Given the description of an element on the screen output the (x, y) to click on. 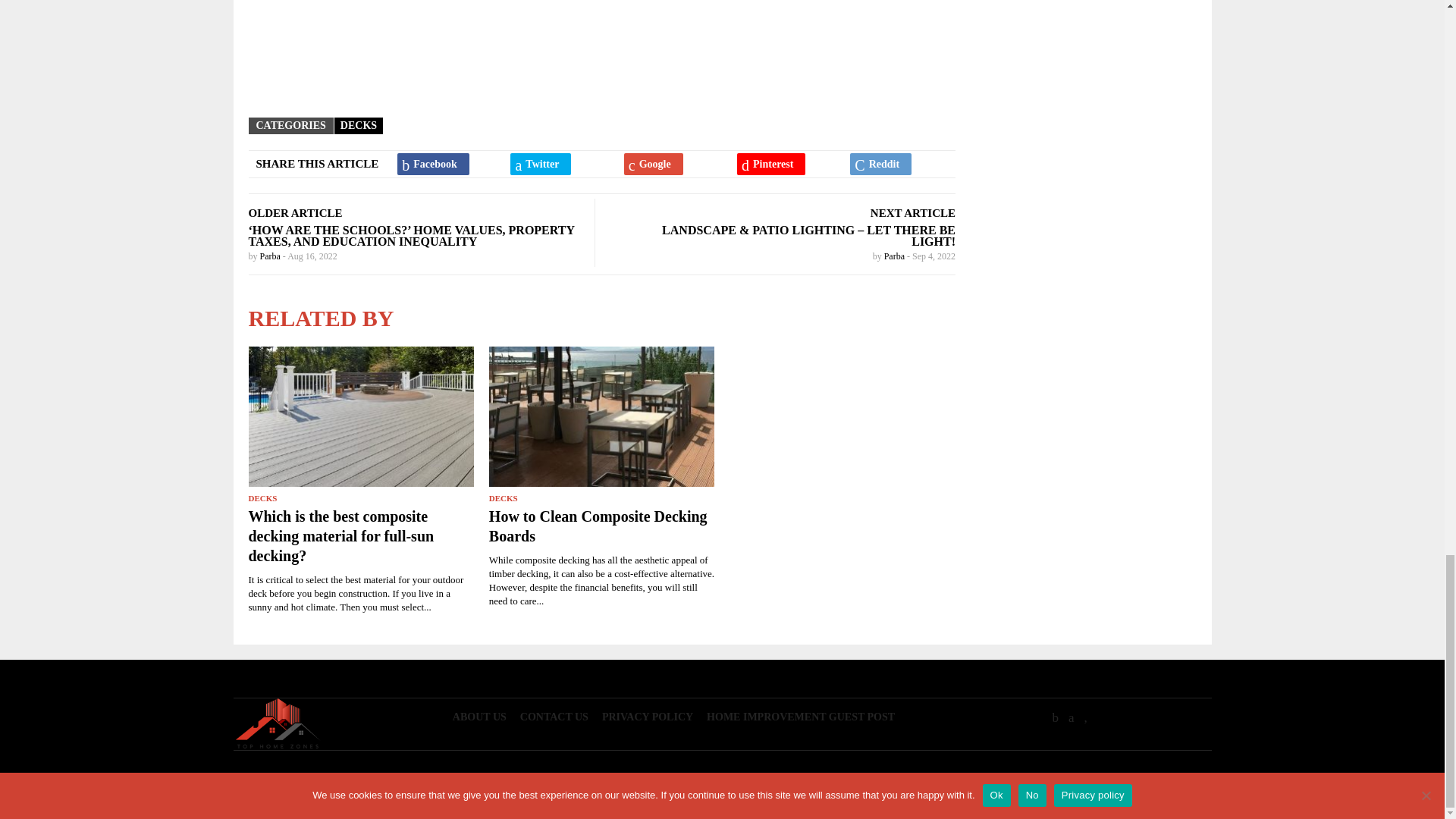
Parba (270, 255)
NEXT ARTICLE (912, 213)
DECKS (358, 125)
OLDER ARTICLE (295, 213)
